Given the description of an element on the screen output the (x, y) to click on. 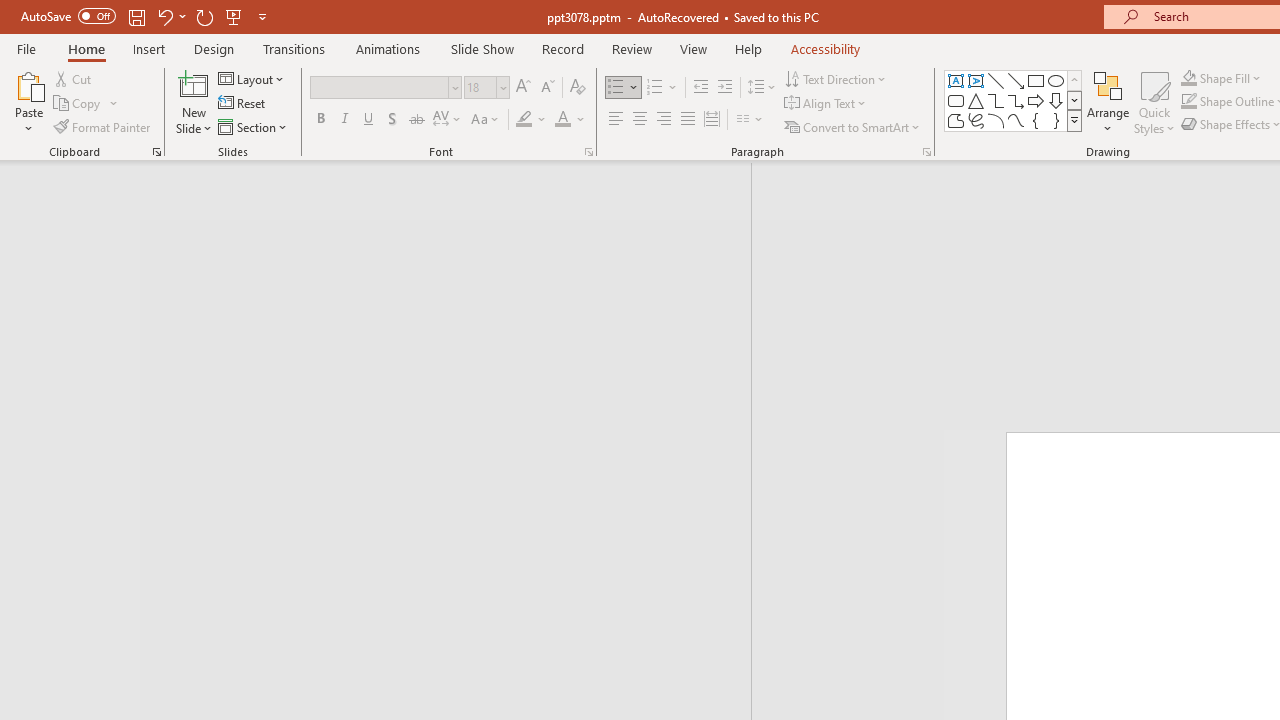
Decrease Font Size (547, 87)
Left Brace (1035, 120)
Cut (73, 78)
New Slide (193, 84)
Convert to SmartArt (853, 126)
Clear Formatting (577, 87)
Arrange (1108, 102)
